Given the description of an element on the screen output the (x, y) to click on. 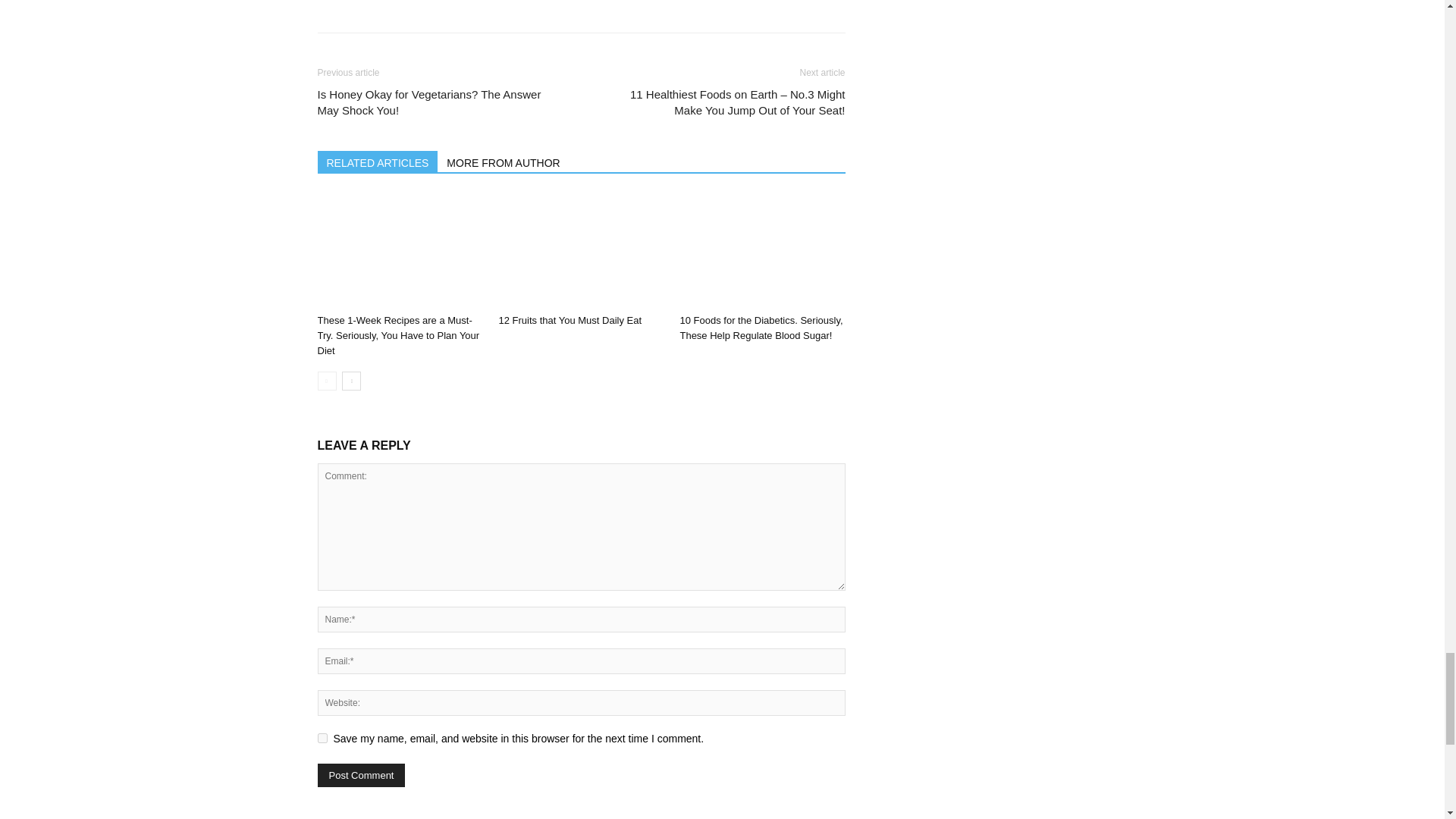
12 Fruits that You Must Daily Eat (580, 250)
Post Comment (360, 775)
yes (321, 737)
12 Fruits that You Must Daily Eat (569, 319)
